Given the description of an element on the screen output the (x, y) to click on. 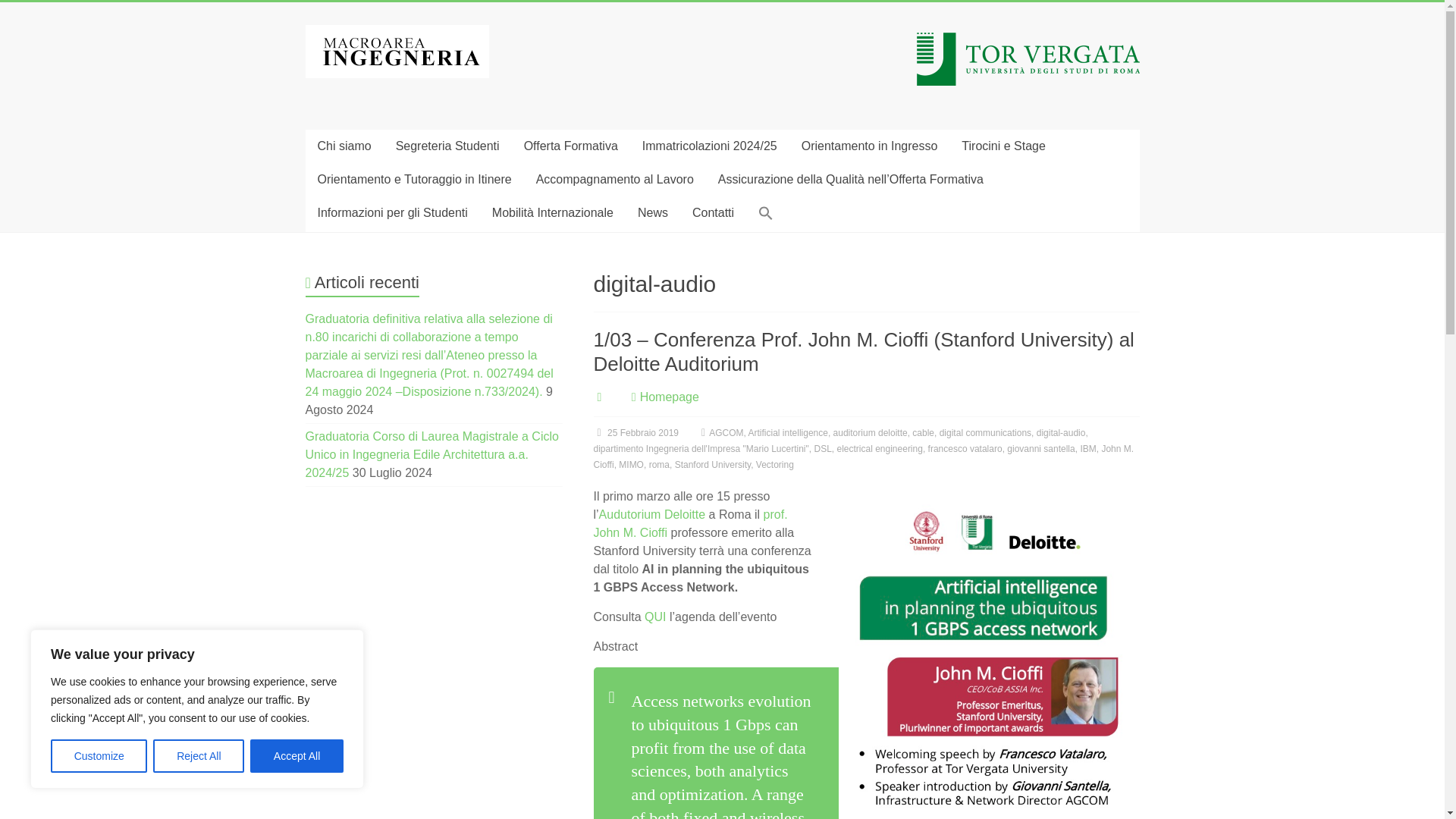
Accept All (296, 756)
Chi siamo (343, 145)
Offerta Formativa (571, 145)
Orientamento in Ingresso (869, 145)
Tirocini e Stage (1003, 145)
Orientamento e Tutoraggio in Itinere (413, 179)
Customize (98, 756)
Reject All (198, 756)
Segreteria Studenti (448, 145)
15:26 (635, 432)
